Given the description of an element on the screen output the (x, y) to click on. 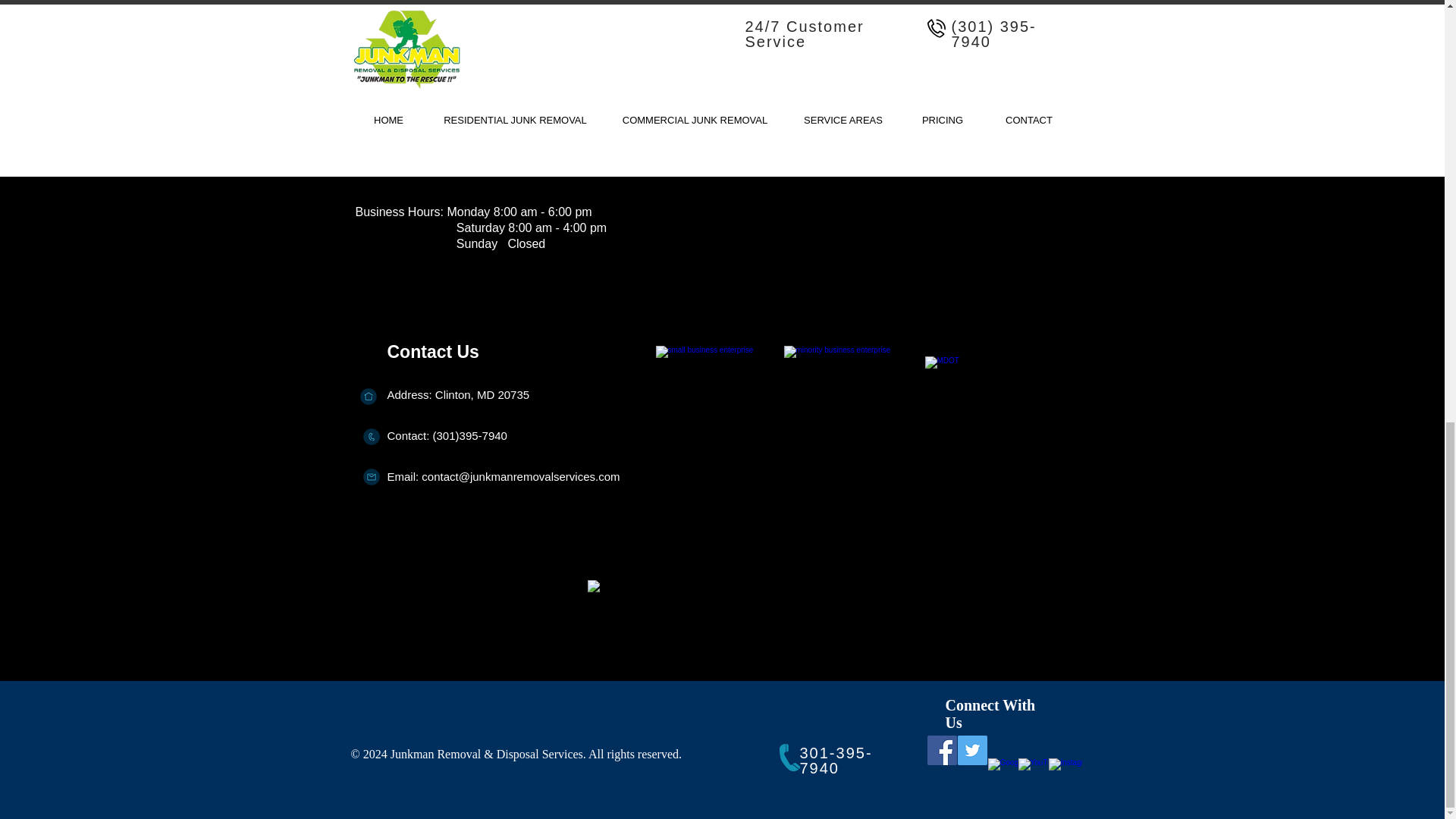
MINORITY BUSINESS ENTERPRISE (850, 407)
MDOT (1009, 406)
CERTIFIED SMALL BUSINESS (721, 407)
